Given the description of an element on the screen output the (x, y) to click on. 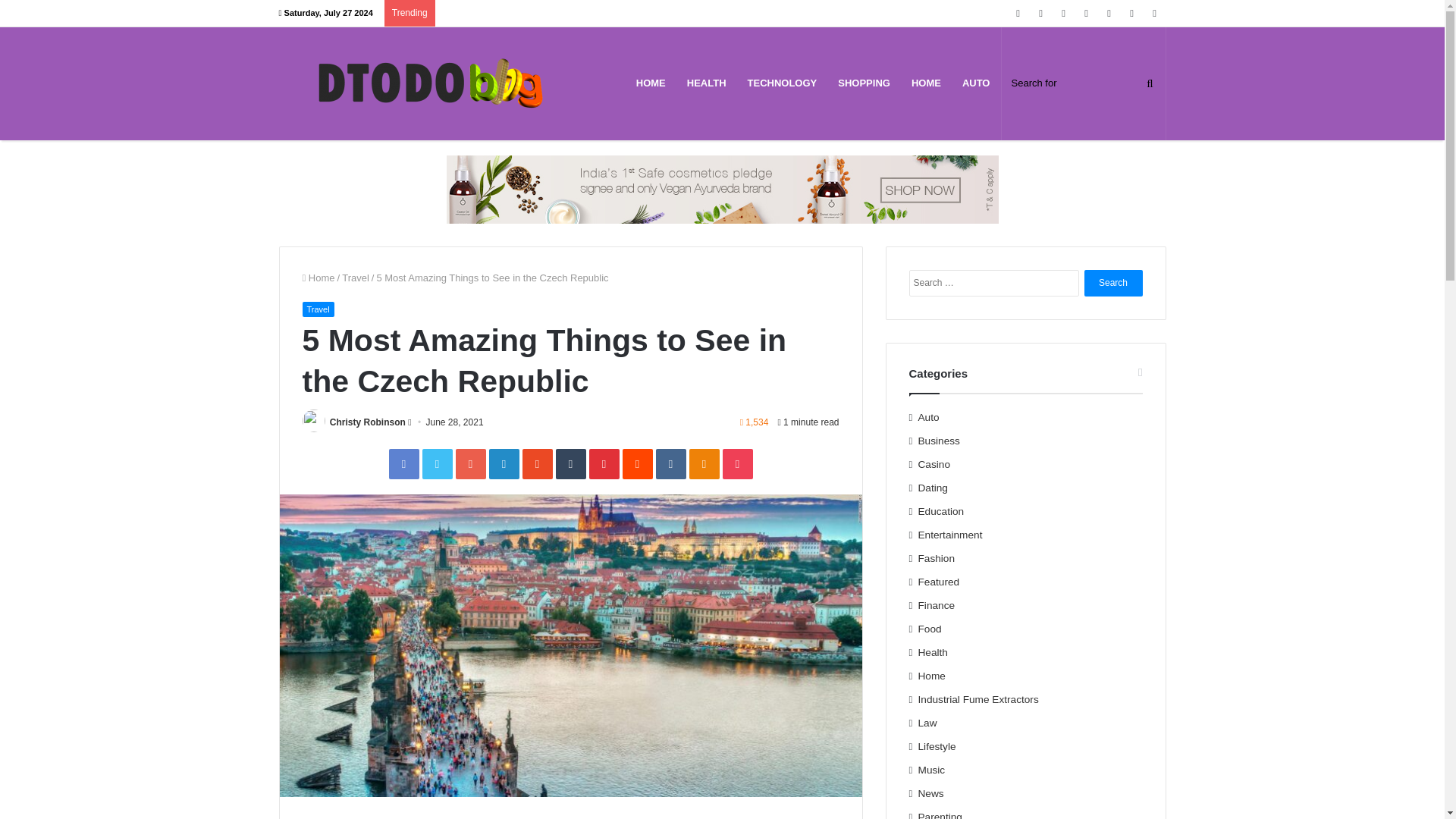
Search (1113, 283)
Tumblr (569, 463)
Facebook (403, 463)
Home (317, 277)
Search (1113, 283)
Travel (317, 309)
Pinterest (603, 463)
Dtodo Blog (430, 83)
Buy Jannah Theme (721, 188)
LinkedIn (502, 463)
Twitter (436, 463)
Christy Robinson (368, 421)
Travel (355, 277)
Search for (1082, 83)
StumbleUpon (536, 463)
